Given the description of an element on the screen output the (x, y) to click on. 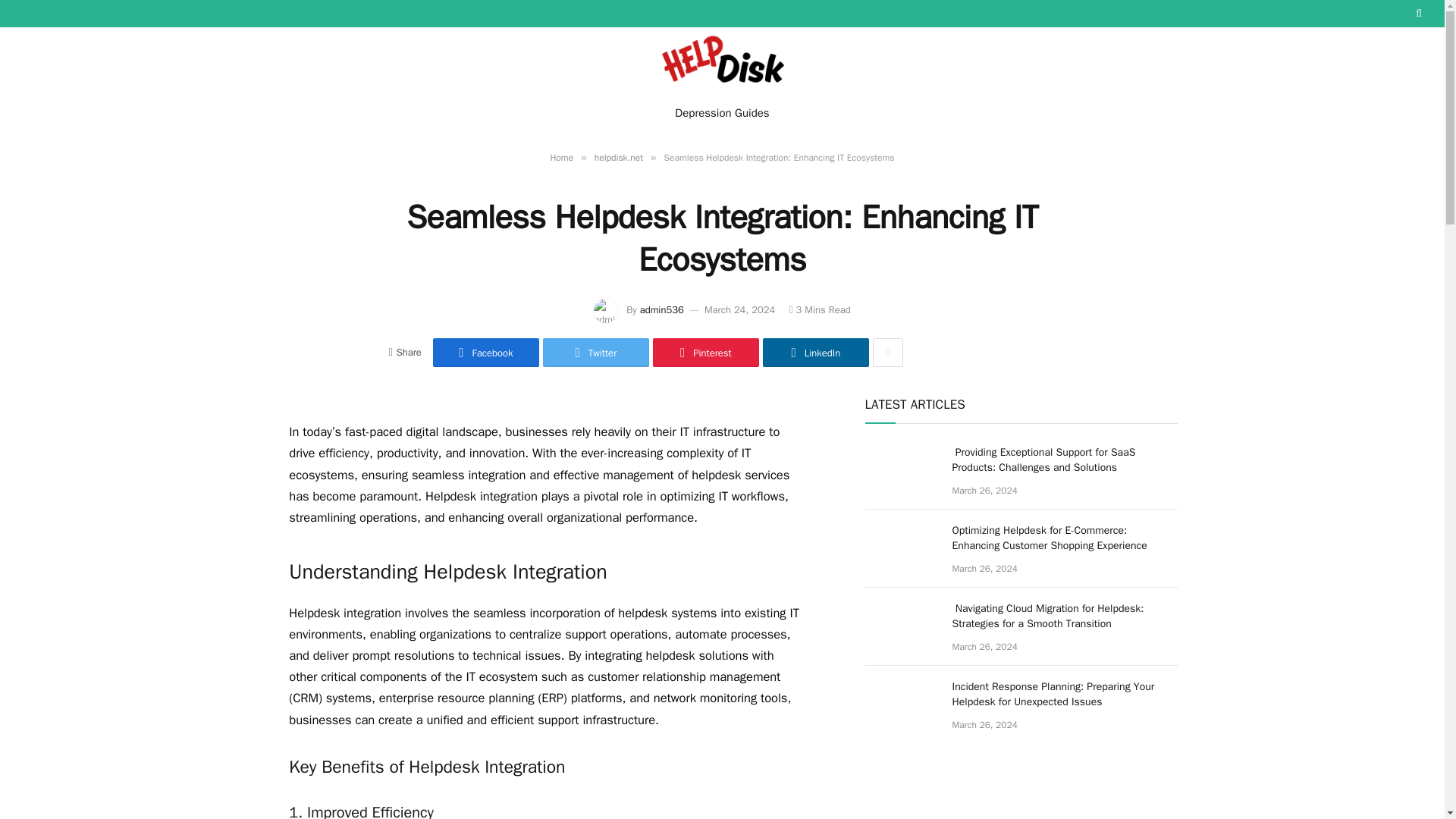
Share on Pinterest (705, 352)
Share on Facebook (485, 352)
Posts by admin536 (662, 309)
admin536 (662, 309)
Twitter (596, 352)
helpdisk.net (618, 157)
Share on LinkedIn (815, 352)
Pinterest (705, 352)
Depression Guides (721, 112)
